Given the description of an element on the screen output the (x, y) to click on. 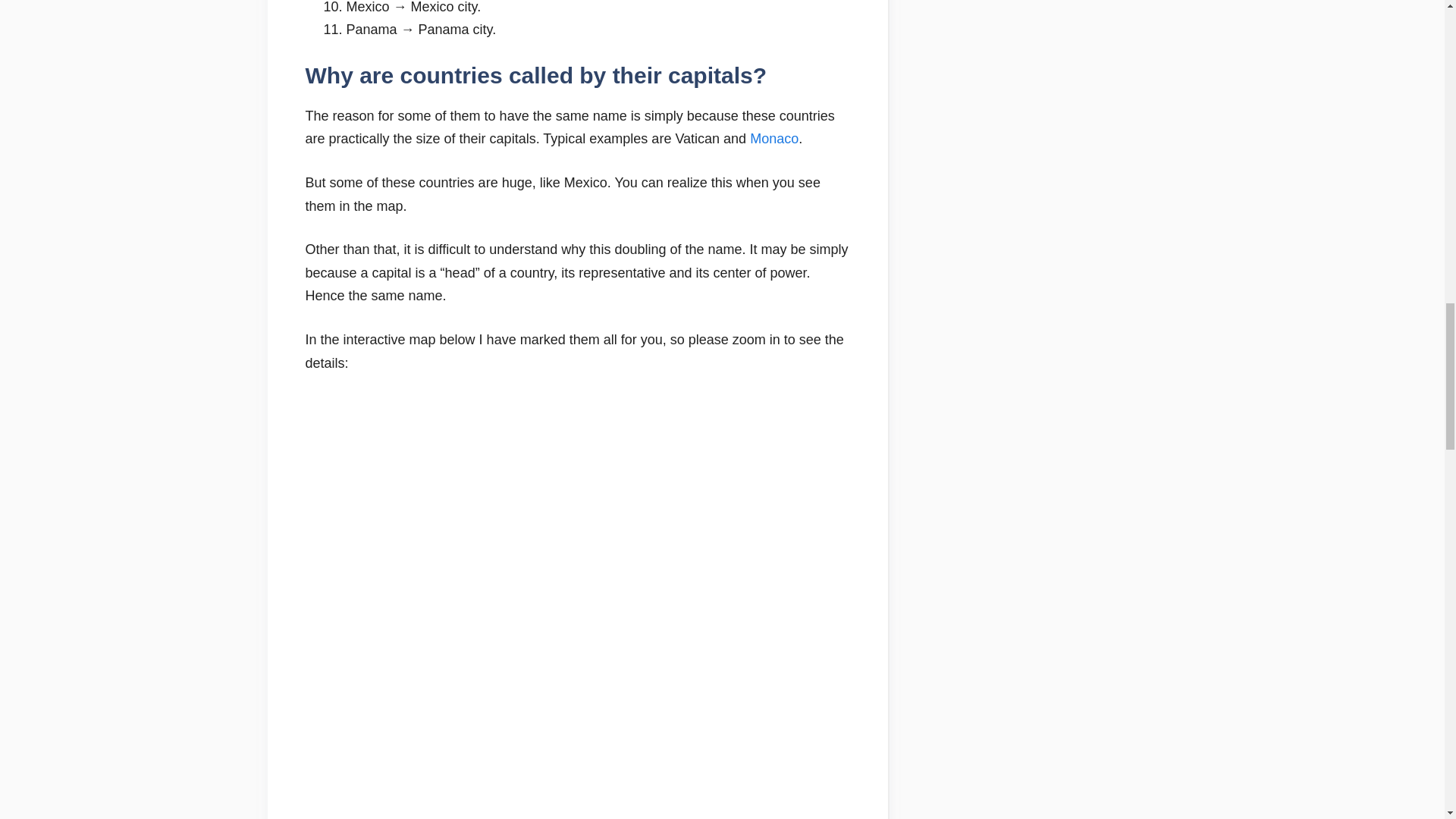
Monaco (773, 138)
